Given the description of an element on the screen output the (x, y) to click on. 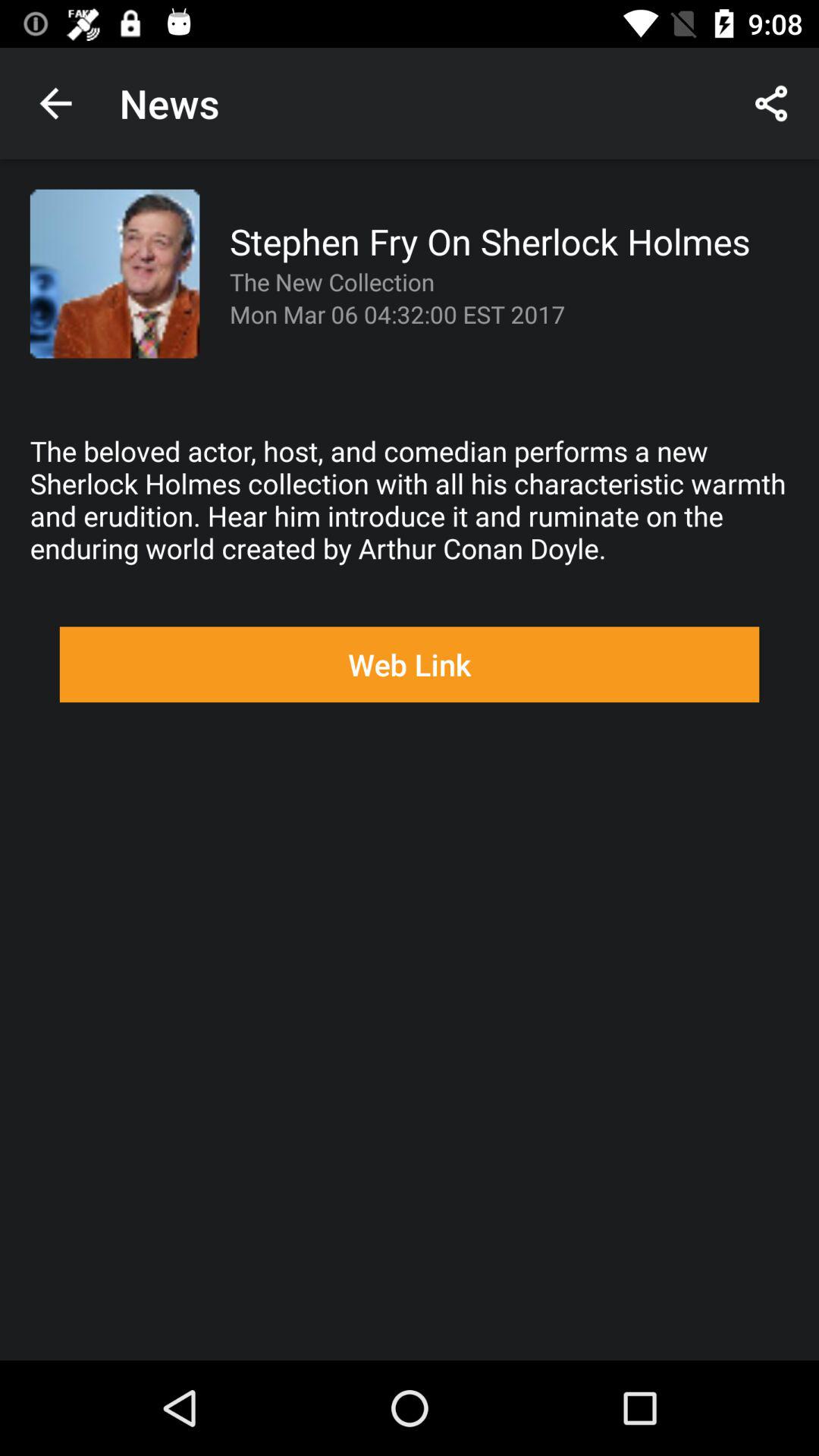
turn on the app to the right of the news icon (771, 103)
